Given the description of an element on the screen output the (x, y) to click on. 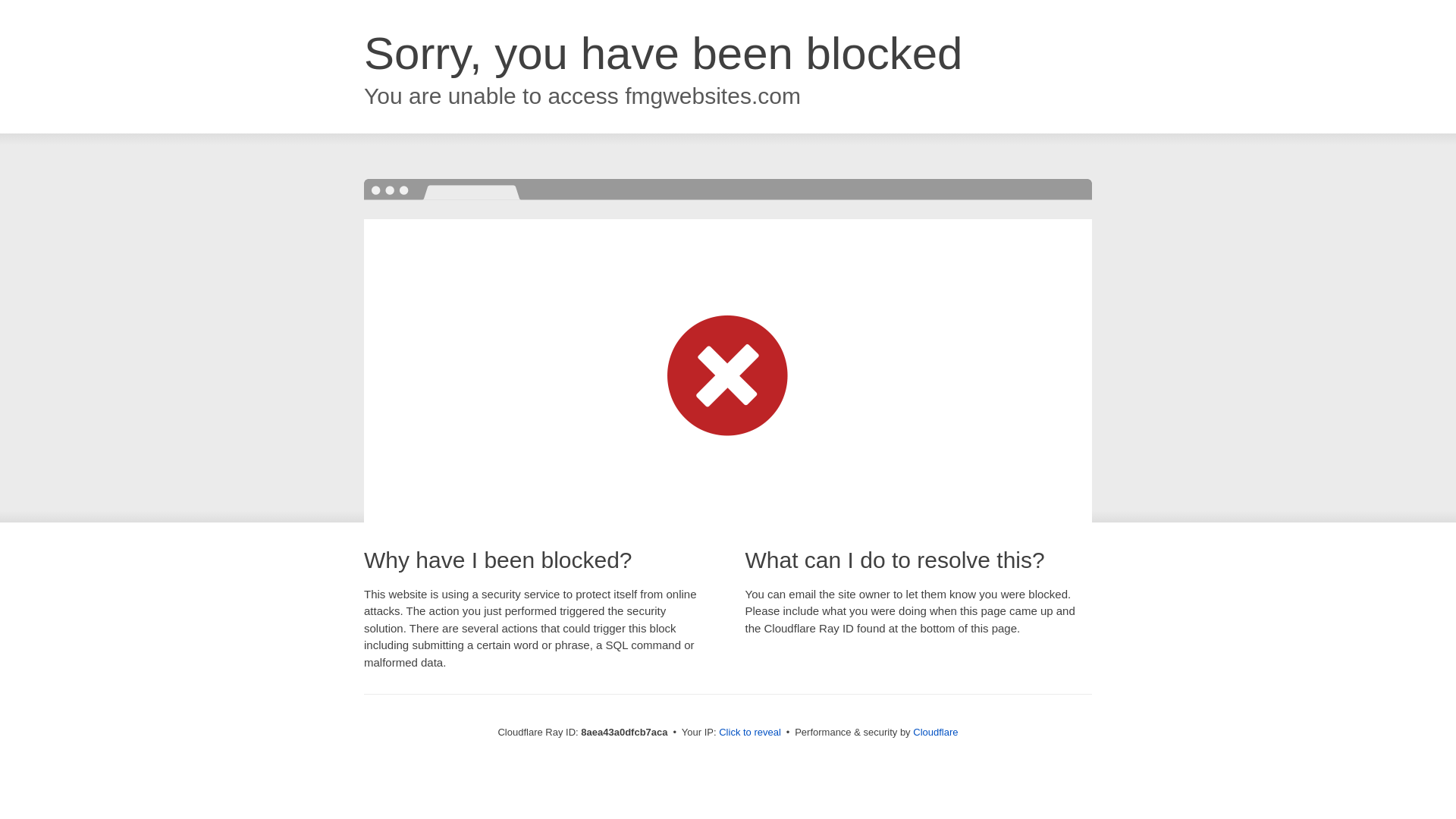
Cloudflare (935, 731)
Click to reveal (749, 732)
